Given the description of an element on the screen output the (x, y) to click on. 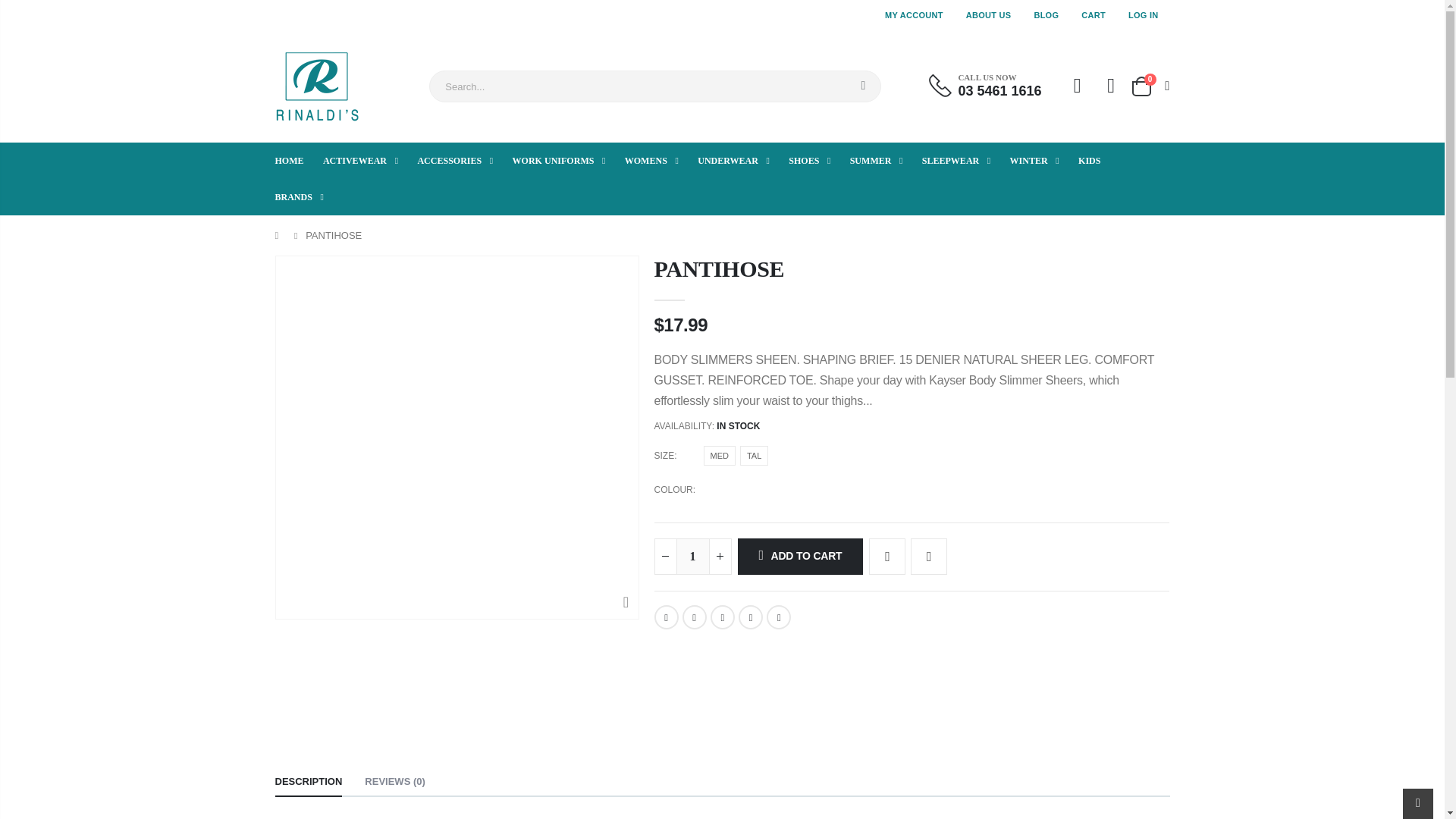
BLOG (1045, 14)
CART (1093, 14)
ACTIVEWEAR (368, 160)
PANTIHOSE (722, 617)
03 5461 1616 (999, 90)
MY ACCOUNT (914, 14)
PANTIHOSE (778, 617)
LOG IN (1143, 14)
1 (693, 556)
ABOUT US (988, 14)
Add to compare (929, 556)
HOME (297, 160)
0 (1149, 86)
ACCESSORIES (462, 160)
PANTIHOSE (750, 617)
